Given the description of an element on the screen output the (x, y) to click on. 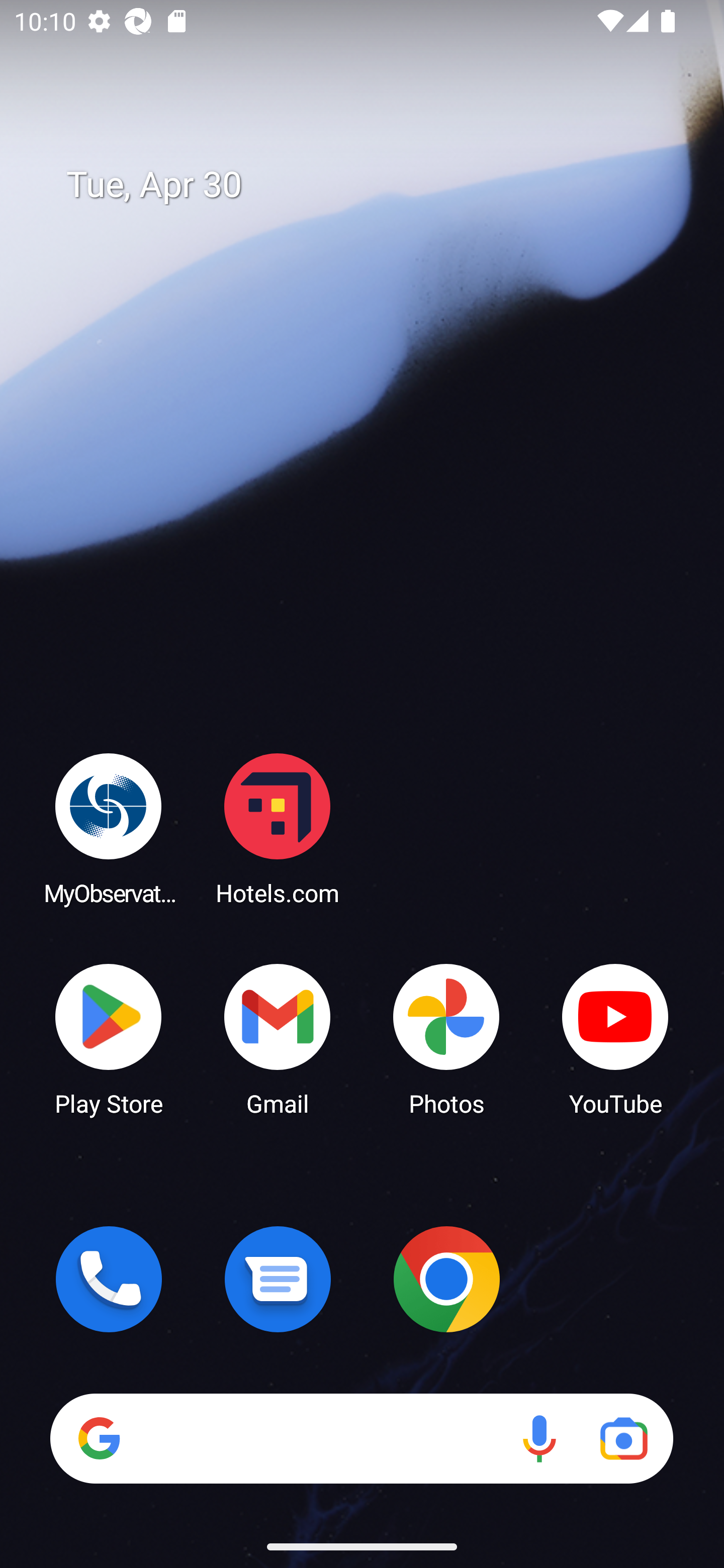
Tue, Apr 30 (375, 184)
MyObservatory (108, 828)
Hotels.com (277, 828)
Play Store (108, 1038)
Gmail (277, 1038)
Photos (445, 1038)
YouTube (615, 1038)
Phone (108, 1279)
Messages (277, 1279)
Chrome (446, 1279)
Search Voice search Google Lens (361, 1438)
Voice search (539, 1438)
Google Lens (623, 1438)
